Given the description of an element on the screen output the (x, y) to click on. 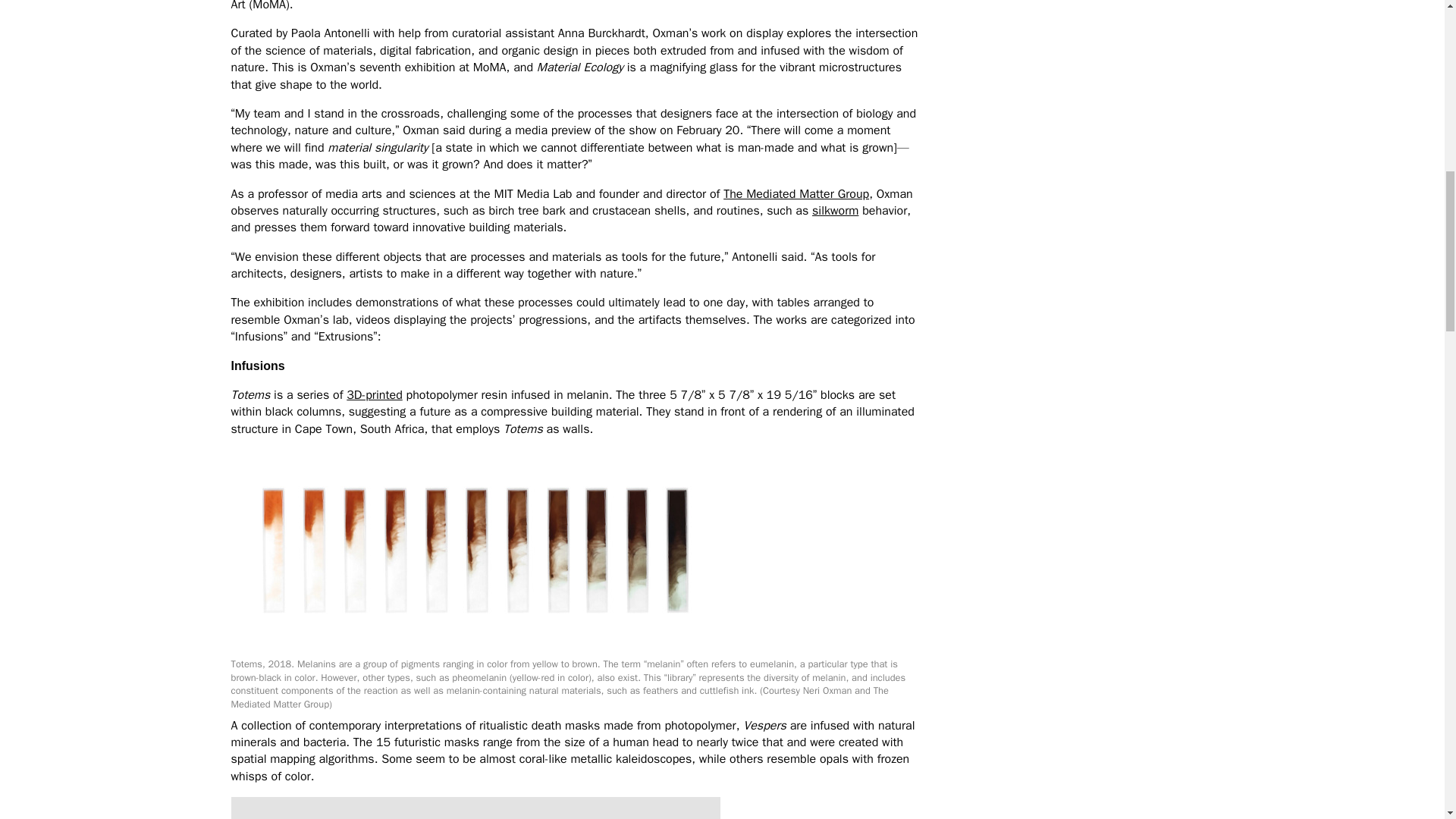
The Mediated Matter Group (796, 193)
3D-printed (373, 394)
silkworm (835, 210)
